Given the description of an element on the screen output the (x, y) to click on. 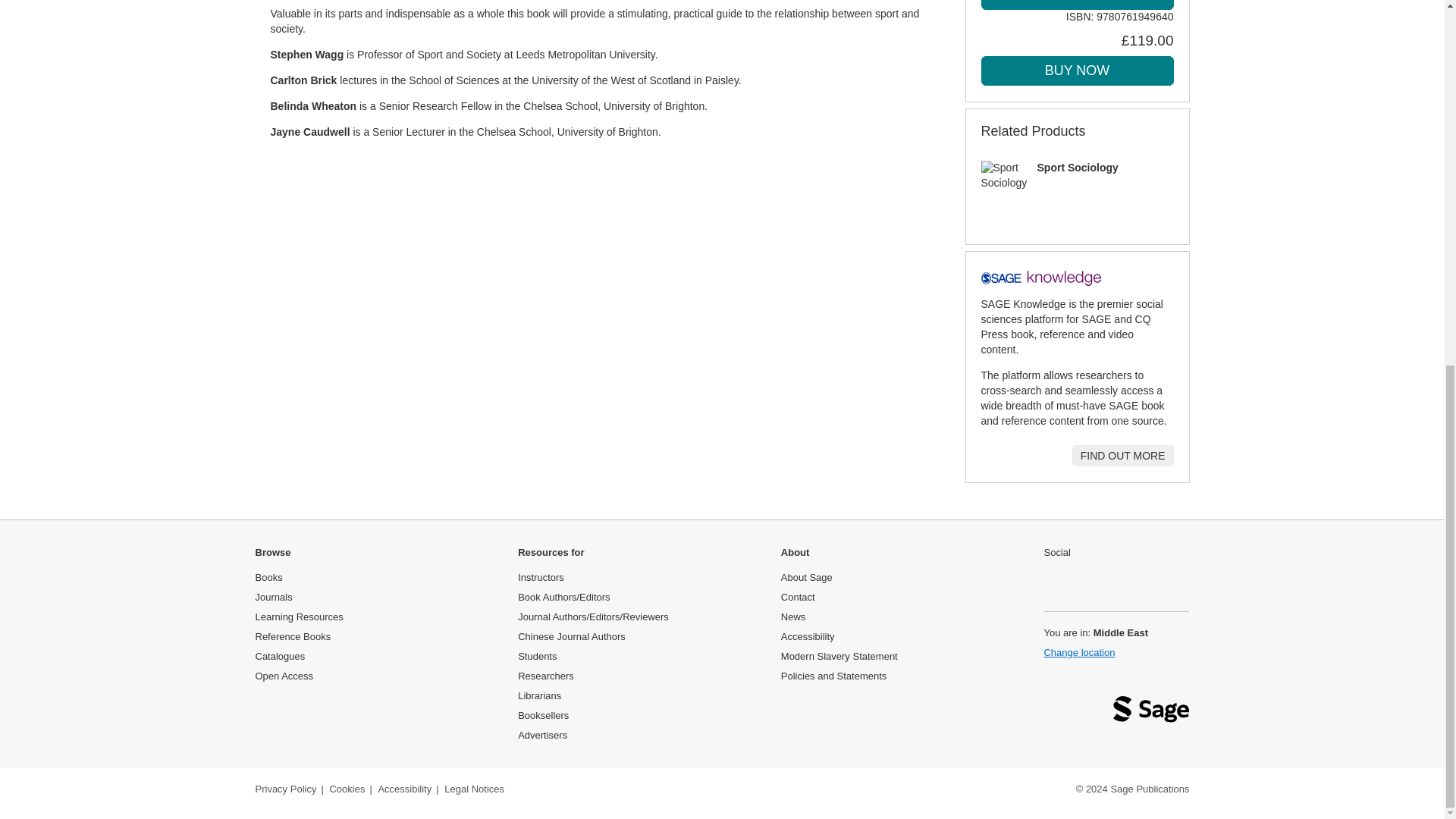
Catalogues (279, 655)
Buy now (1077, 4)
Buy now (1077, 71)
Sage logo: link back to homepage (1151, 712)
